Given the description of an element on the screen output the (x, y) to click on. 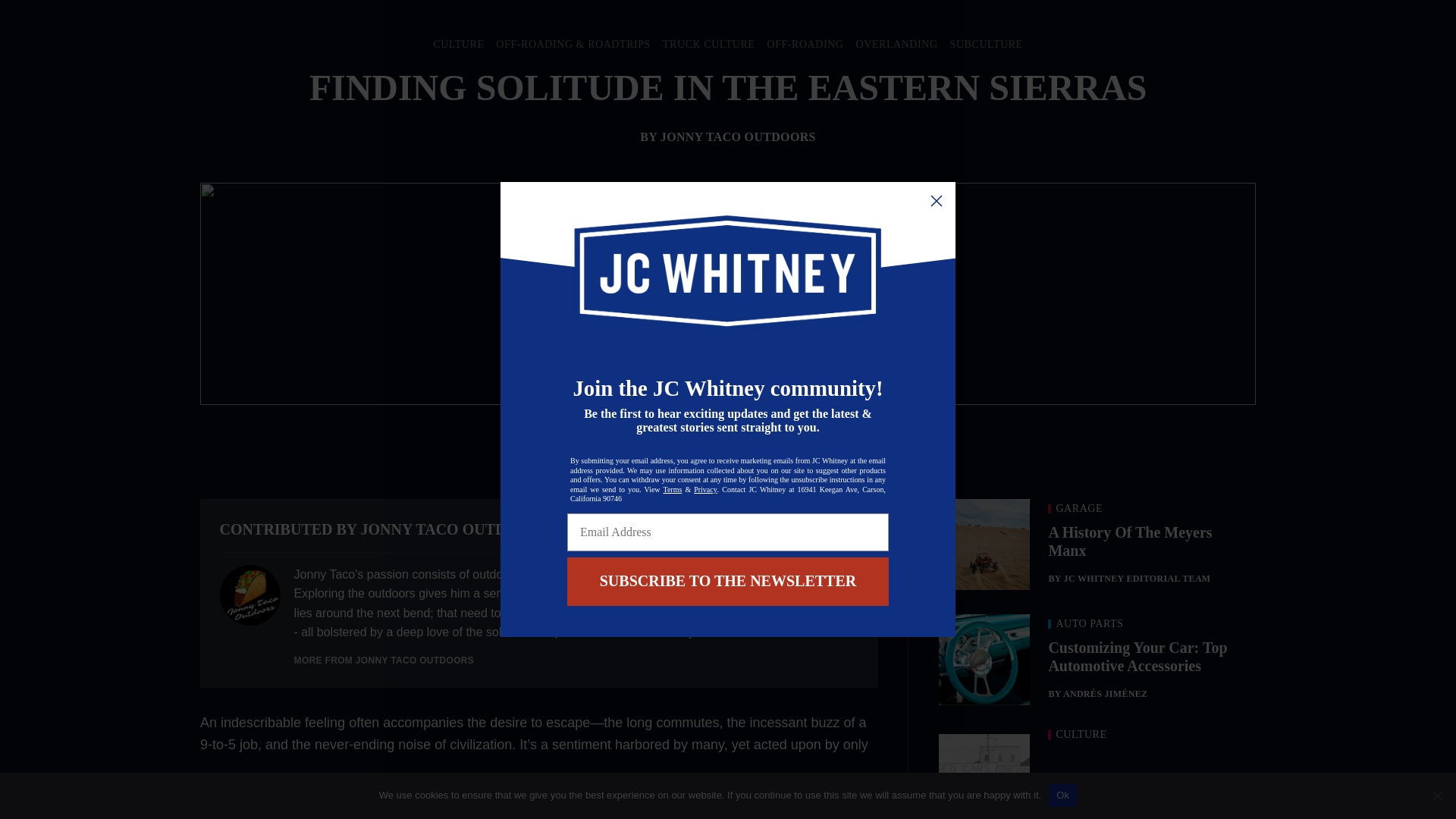
SUBCULTURE (986, 44)
OVERLANDING (896, 44)
BY JONNY TACO OUTDOORS (727, 136)
OFF-ROADING (805, 44)
VIEW AUTHOR WEBSITE (794, 528)
TRUCK CULTURE (708, 44)
MORE FROM JONNY TACO OUTDOORS (384, 660)
CULTURE (457, 44)
